Given the description of an element on the screen output the (x, y) to click on. 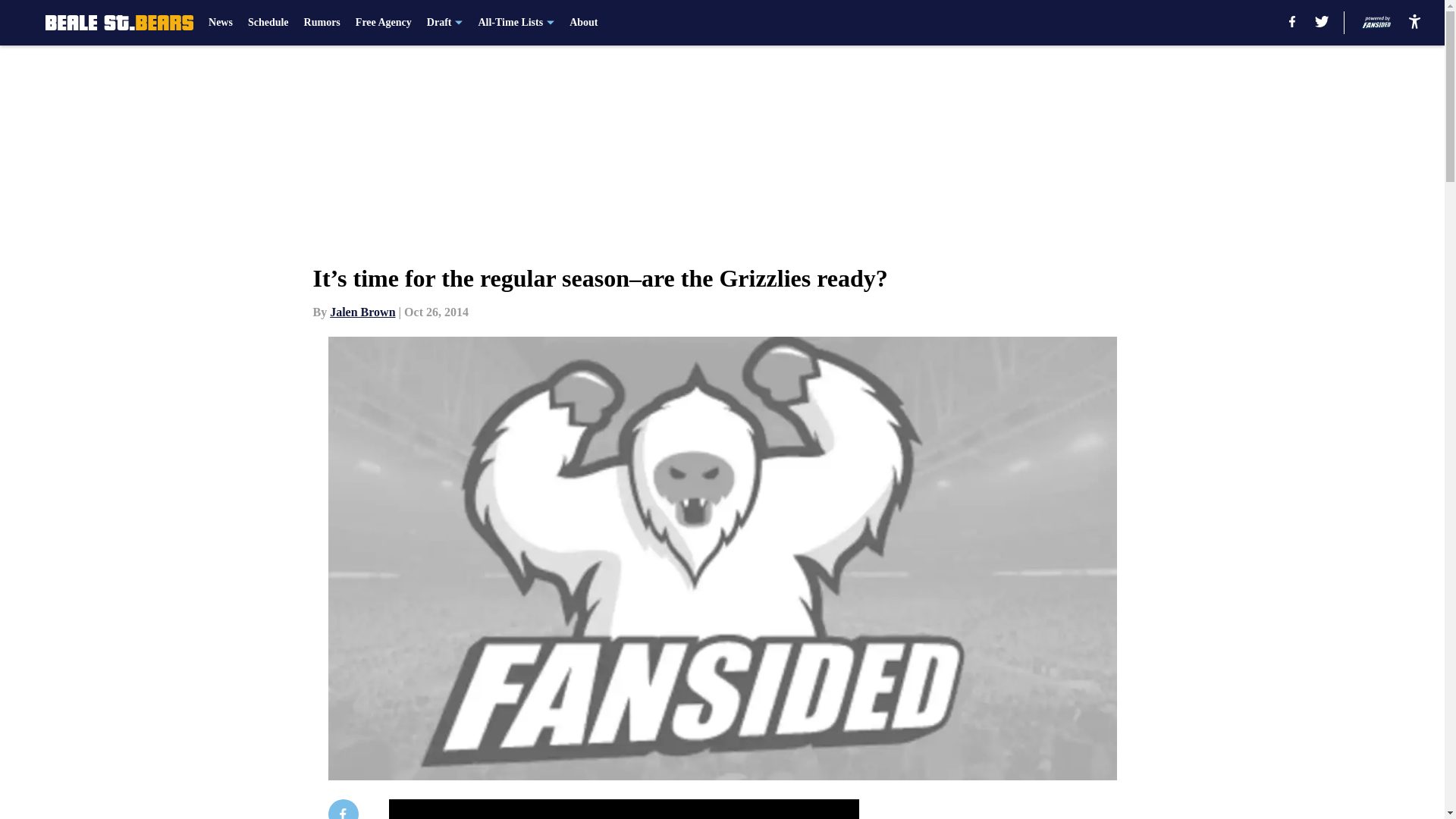
Free Agency (383, 22)
About (582, 22)
Jalen Brown (362, 311)
Draft (444, 22)
All-Time Lists (515, 22)
Rumors (322, 22)
Schedule (267, 22)
News (220, 22)
